Given the description of an element on the screen output the (x, y) to click on. 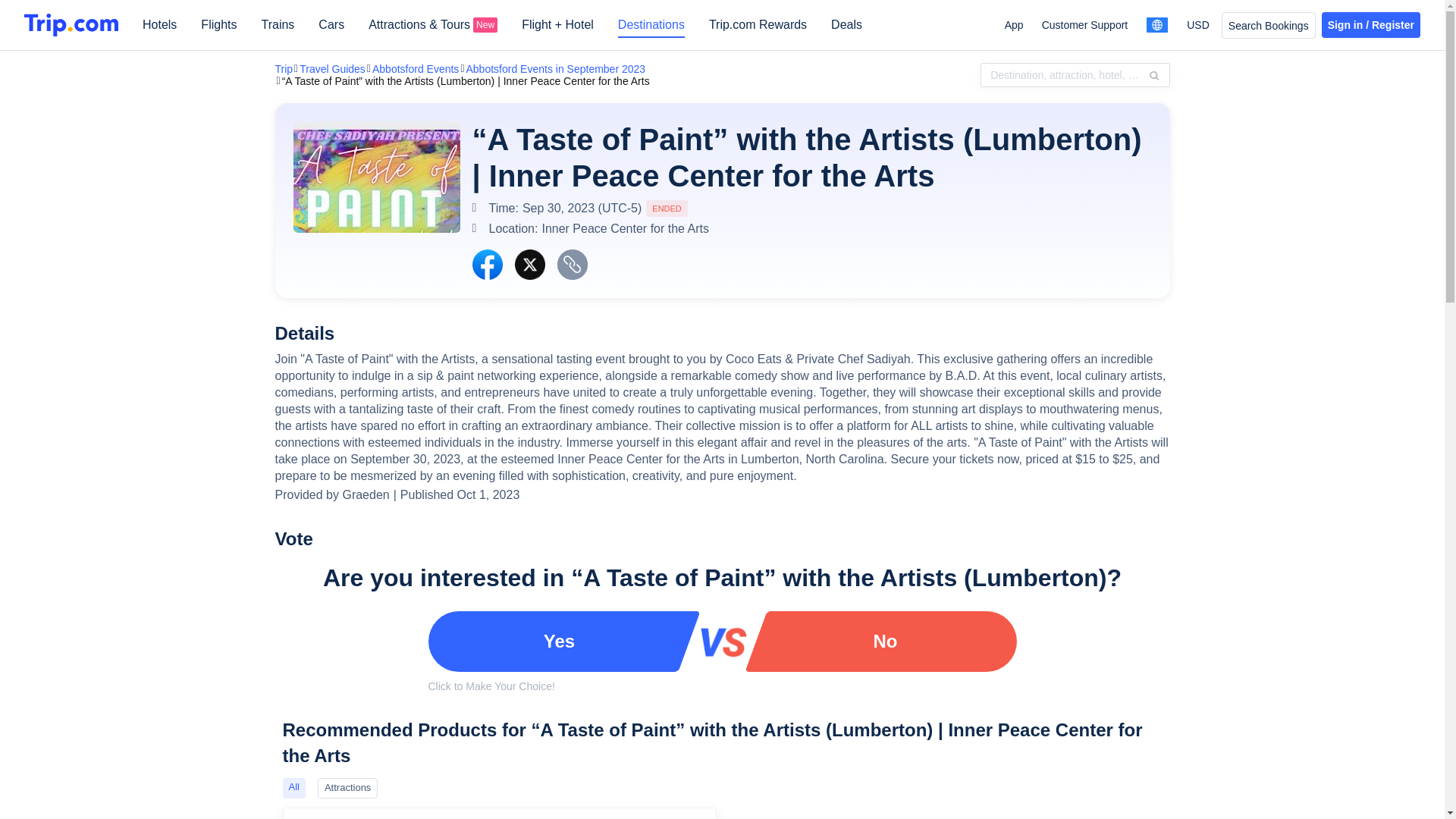
Abbotsford Events in September 2023 (555, 69)
Abbotsford Events in September 2023 (555, 69)
App (1013, 24)
Deals (846, 31)
Cars (330, 31)
Travel Guides (332, 69)
Trip.com Rewards (757, 31)
Destinations (650, 31)
Trains (277, 31)
Trip (283, 69)
Travel Guides (332, 69)
Hotels (159, 31)
Search Bookings (1268, 25)
Destinations (650, 31)
Trip (283, 69)
